Given the description of an element on the screen output the (x, y) to click on. 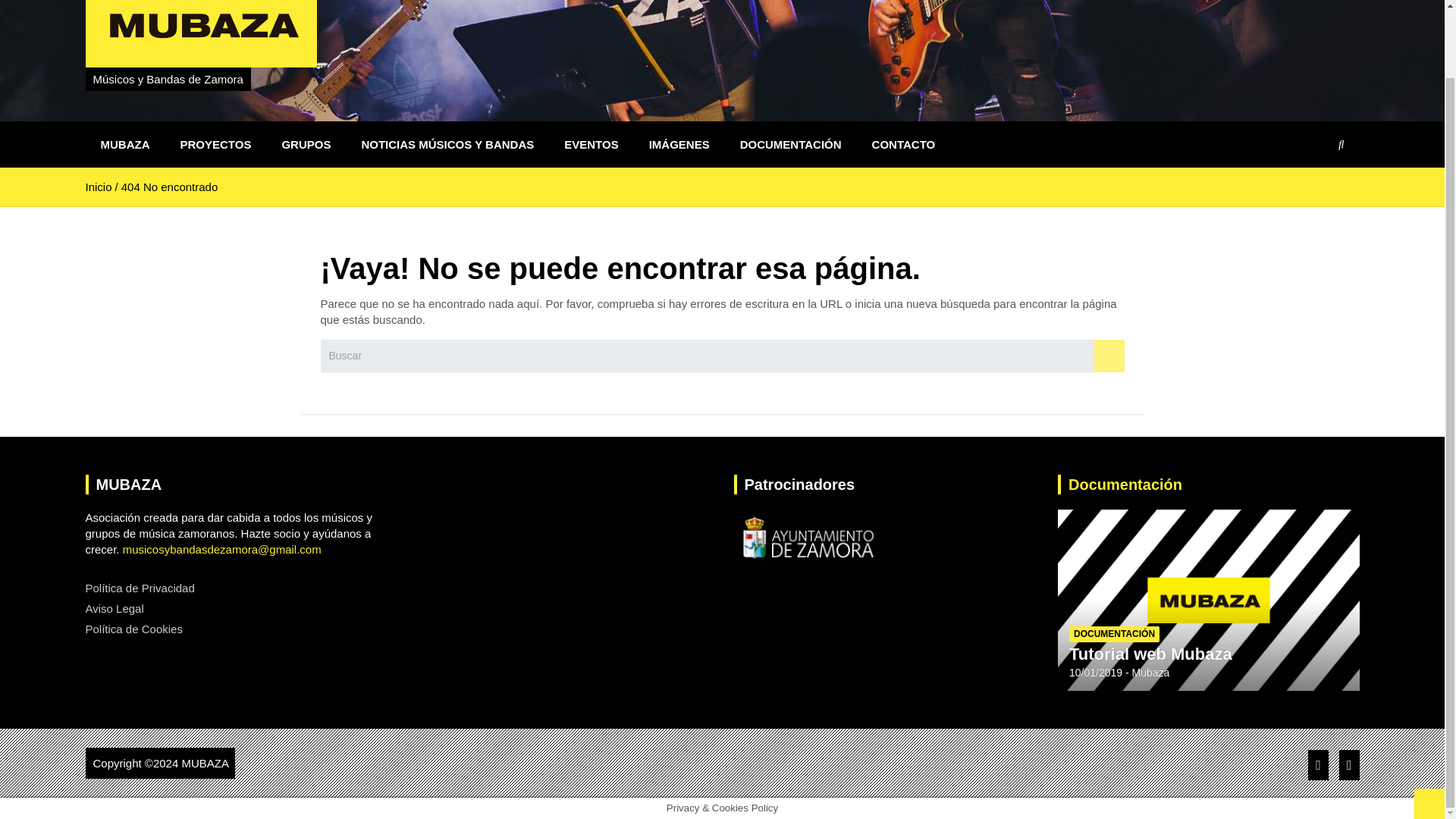
Inicio (98, 186)
MUBAZA (204, 762)
Tutorial web Mubaza (1095, 672)
Tutorial web Mubaza (1149, 653)
Buscar (1108, 355)
Aviso Legal (113, 608)
GRUPOS (306, 144)
CONTACTO (903, 144)
Mubaza (1151, 672)
EVENTOS (590, 144)
MUBAZA (204, 762)
PROYECTOS (215, 144)
MUBAZA (124, 144)
